Given the description of an element on the screen output the (x, y) to click on. 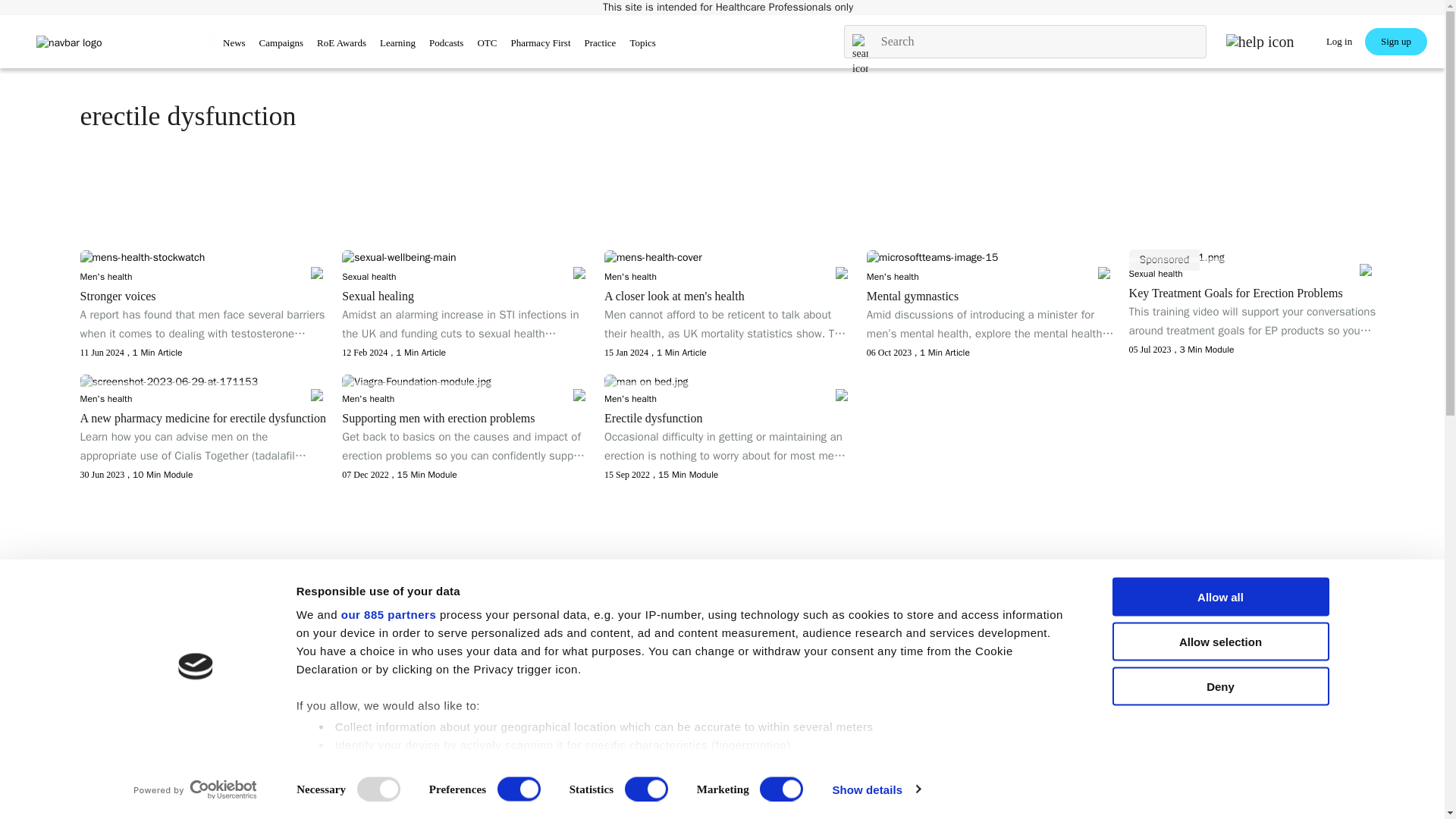
details section (825, 765)
Show details (875, 789)
our 885 partners (388, 614)
